Given the description of an element on the screen output the (x, y) to click on. 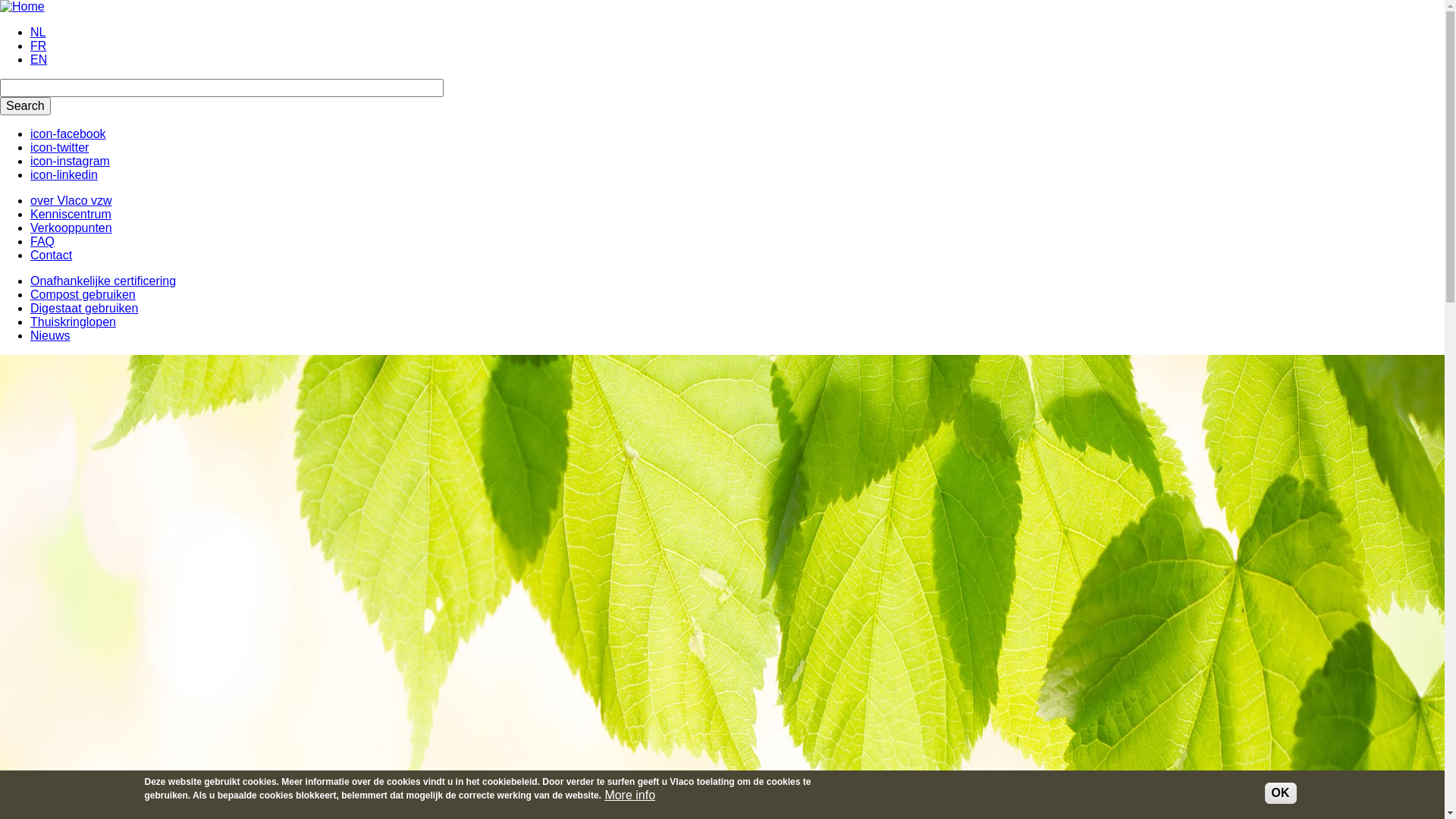
Ledenlijst Element type: text (55, 427)
Wie is wie? Element type: text (60, 413)
More info Element type: text (629, 795)
over Vlaco vzw Element type: text (71, 200)
icon-twitter Element type: text (59, 147)
icon-facebook Element type: text (68, 133)
Overslaan en naar de inhoud gaan Element type: text (0, 0)
icon-instagram Element type: text (69, 160)
Nieuws Element type: text (49, 335)
FAQ Element type: text (42, 241)
Fotogalerij Element type: text (58, 468)
Kenniscentrum Element type: text (70, 213)
OK Element type: text (1280, 792)
Compost gebruiken Element type: text (82, 294)
Onafhankelijke certificering Element type: text (102, 280)
Nieuws Element type: text (49, 454)
Search Element type: text (25, 106)
Verkooppunten Element type: text (71, 227)
icon-linkedin Element type: text (63, 174)
Thuiskringlopen Element type: text (73, 321)
Activiteiten Element type: text (59, 441)
Digestaat gebruiken Element type: text (84, 307)
Contact Element type: text (51, 254)
NL Element type: text (37, 31)
FR Element type: text (38, 45)
EN Element type: text (38, 59)
Wat doet Vlaco vzw? Element type: text (86, 400)
